Given the description of an element on the screen output the (x, y) to click on. 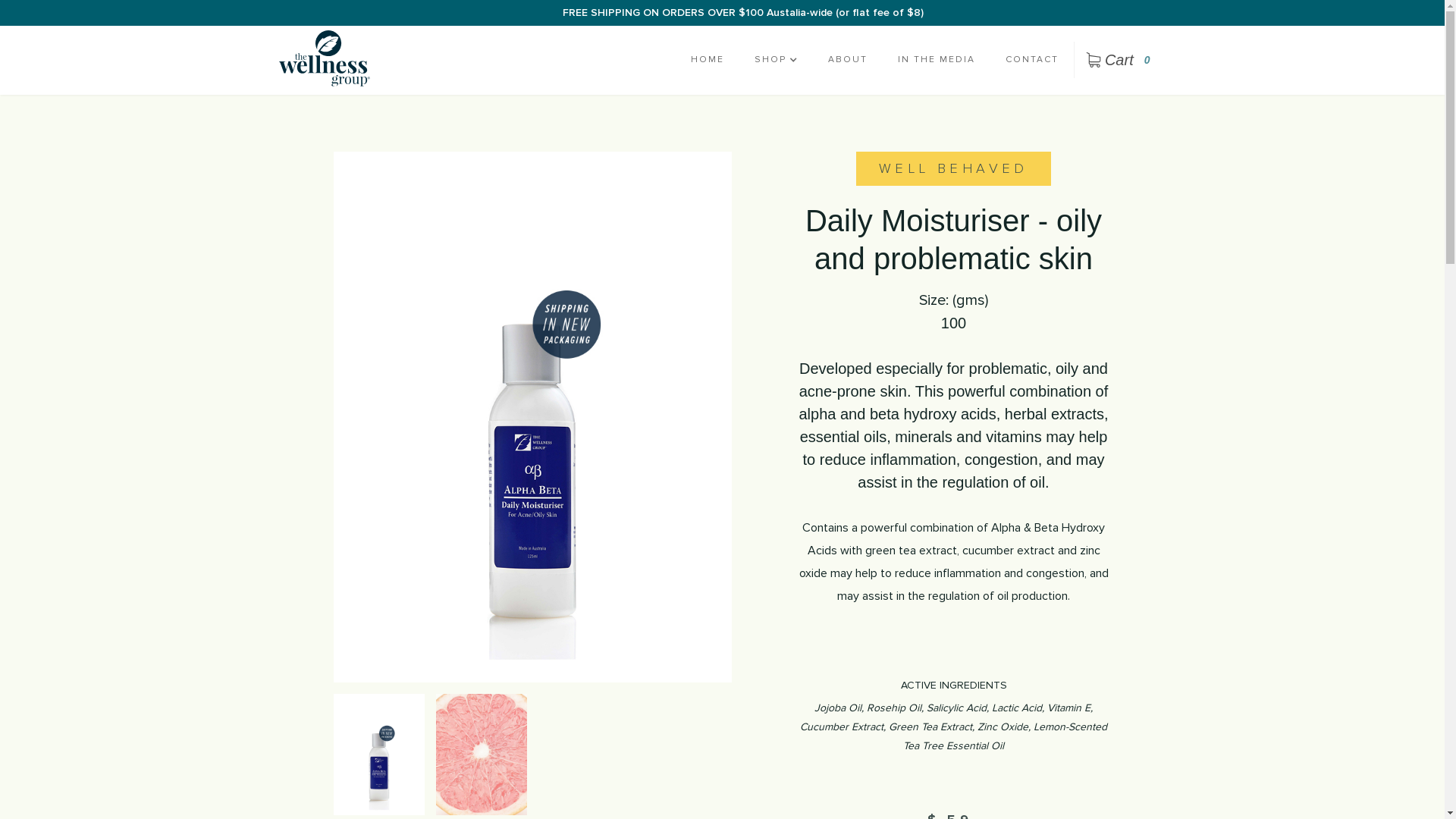
IN THE MEDIA Element type: text (936, 59)
Cart
0 Element type: text (1119, 59)
CONTACT Element type: text (1031, 59)
ABOUT Element type: text (847, 59)
HOME Element type: text (707, 59)
